Given the description of an element on the screen output the (x, y) to click on. 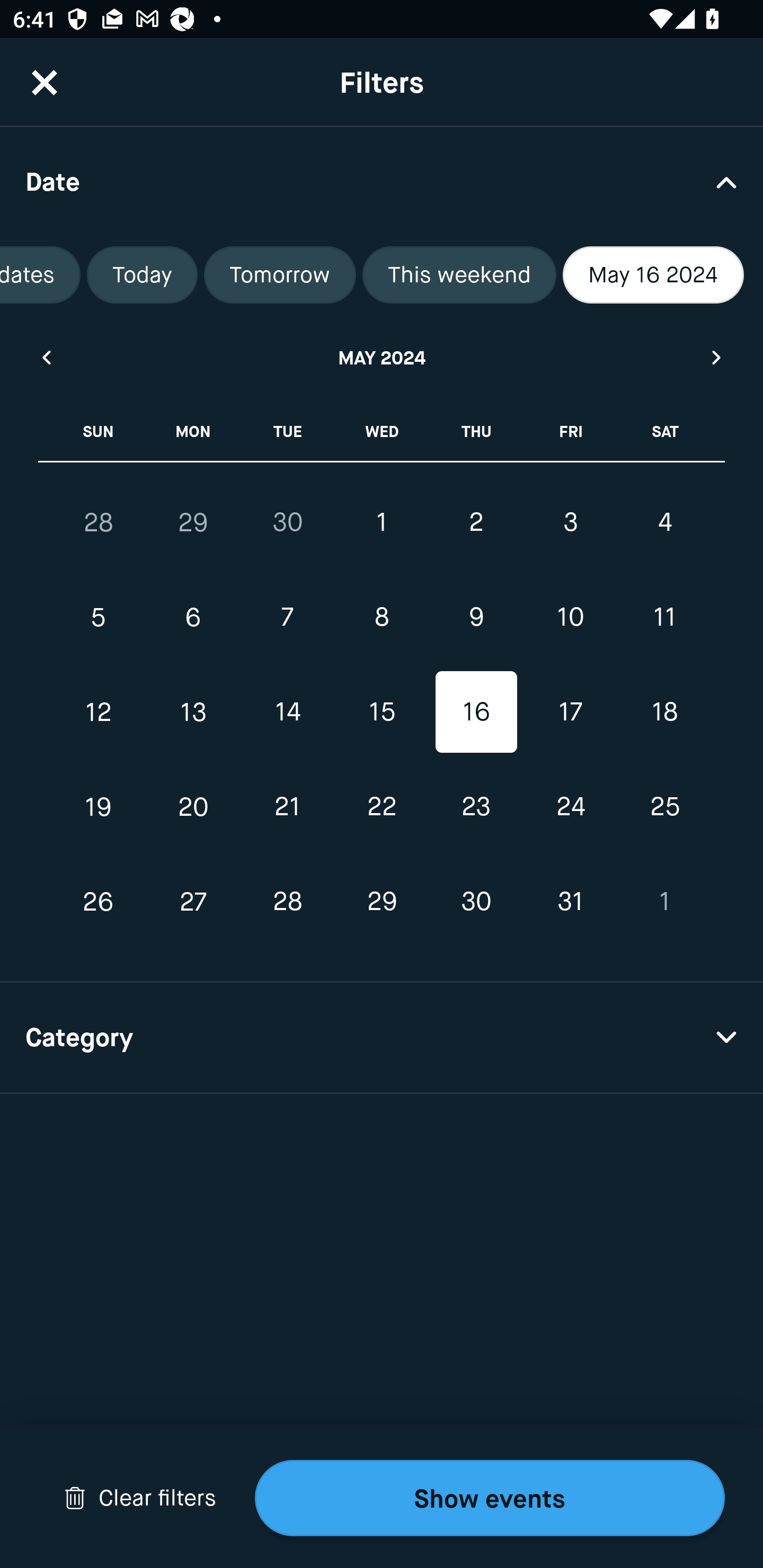
CloseButton (44, 82)
Date Drop Down Arrow (381, 181)
All dates (40, 274)
Today (141, 274)
Tomorrow (279, 274)
This weekend (459, 274)
May 16 2024 (653, 274)
Previous (45, 357)
Next (717, 357)
28 (98, 522)
29 (192, 522)
30 (287, 522)
1 (381, 522)
2 (475, 522)
3 (570, 522)
4 (664, 522)
5 (98, 617)
6 (192, 617)
7 (287, 617)
8 (381, 617)
9 (475, 617)
10 (570, 617)
11 (664, 617)
12 (98, 711)
13 (192, 711)
14 (287, 711)
15 (381, 711)
16 (475, 711)
17 (570, 711)
18 (664, 711)
19 (98, 806)
20 (192, 806)
21 (287, 806)
22 (381, 806)
23 (475, 806)
24 (570, 806)
25 (664, 806)
26 (98, 901)
27 (192, 901)
28 (287, 901)
29 (381, 901)
30 (475, 901)
31 (570, 901)
1 (664, 901)
Category Drop Down Arrow (381, 1038)
Drop Down Arrow Clear filters (139, 1497)
Show events (489, 1497)
